Given the description of an element on the screen output the (x, y) to click on. 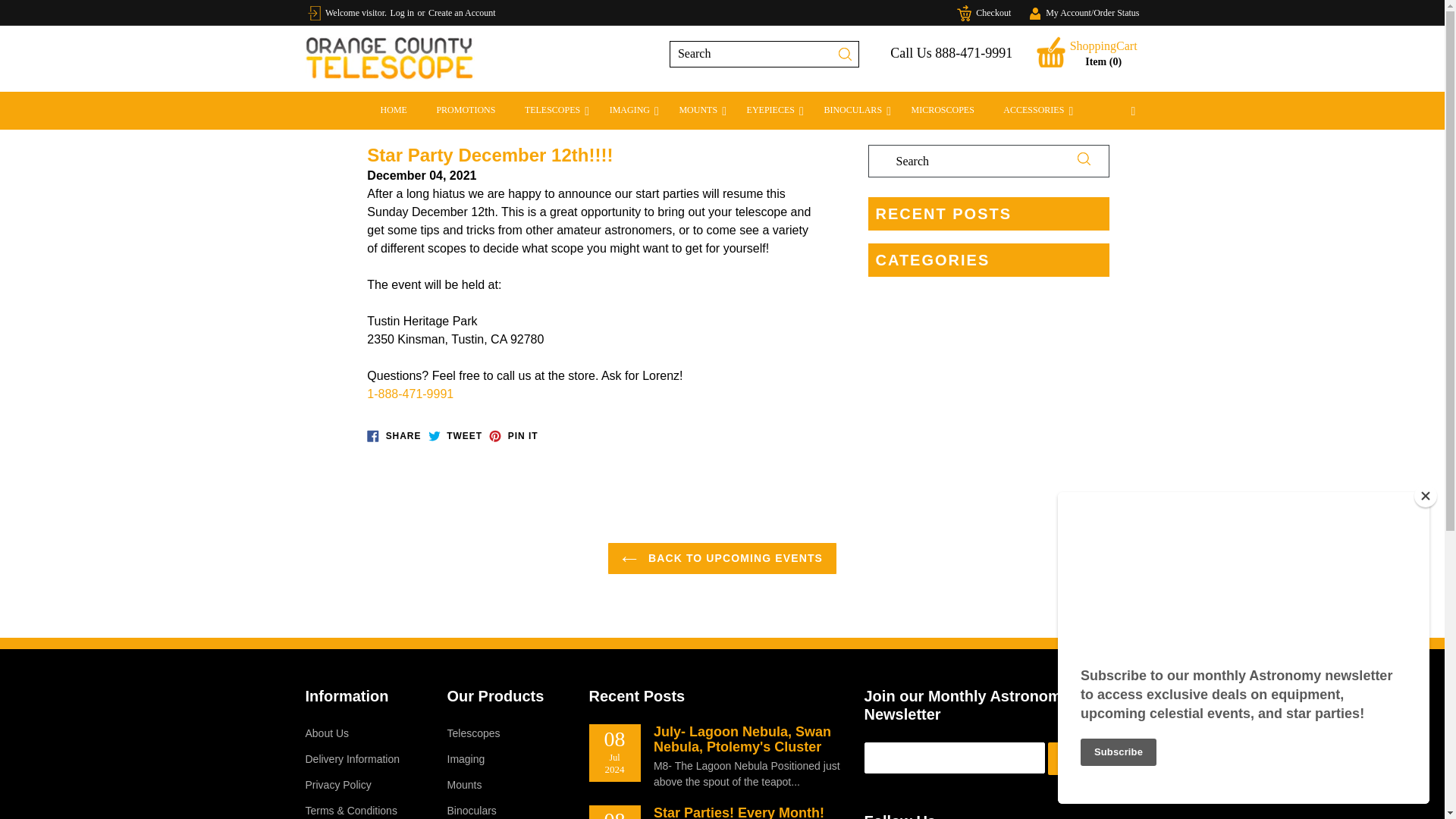
Pin on Pinterest (513, 435)
Share on Facebook (393, 435)
Tweet on Twitter (454, 435)
